Given the description of an element on the screen output the (x, y) to click on. 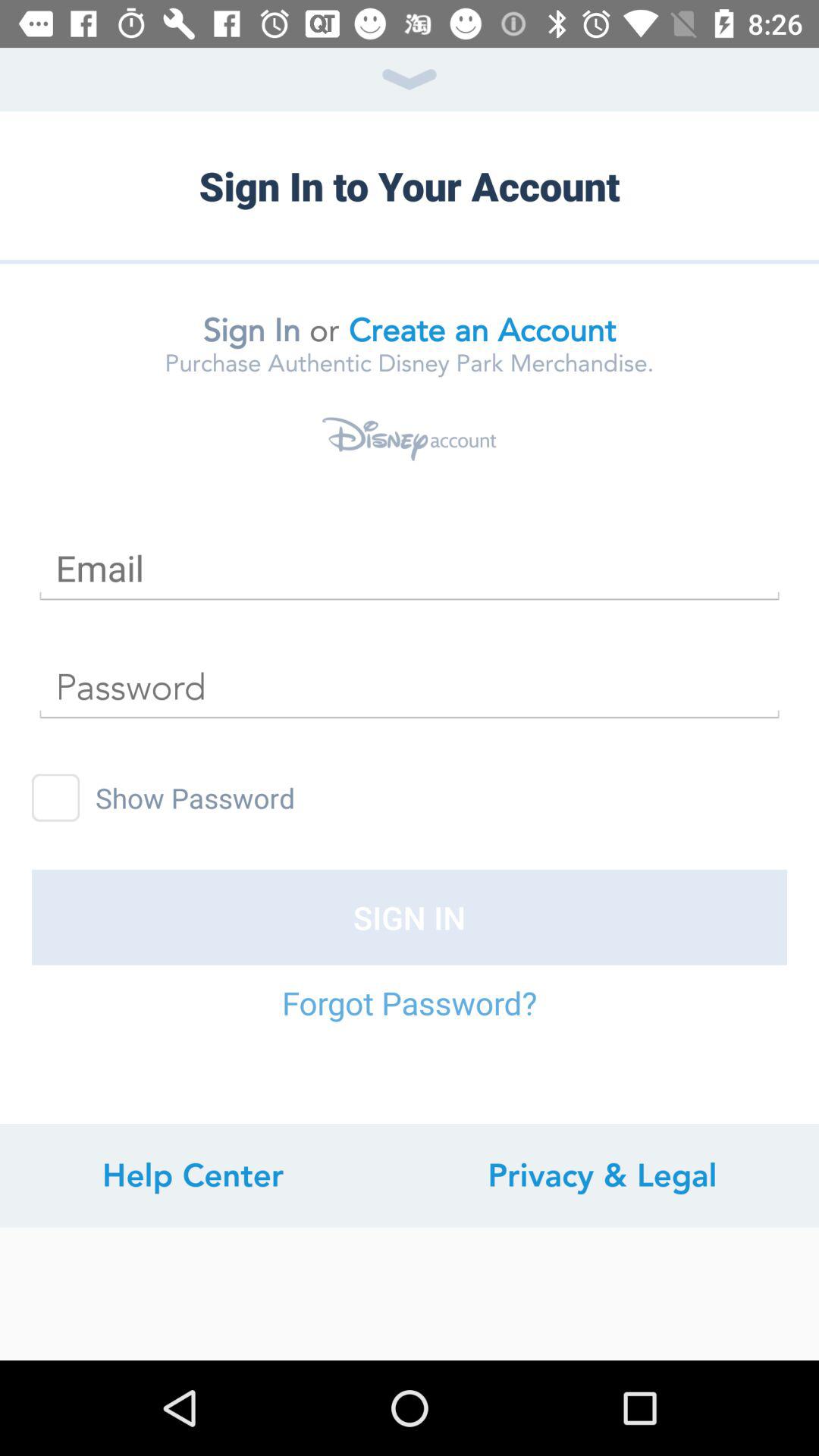
turn off the item above sign in icon (55, 797)
